Given the description of an element on the screen output the (x, y) to click on. 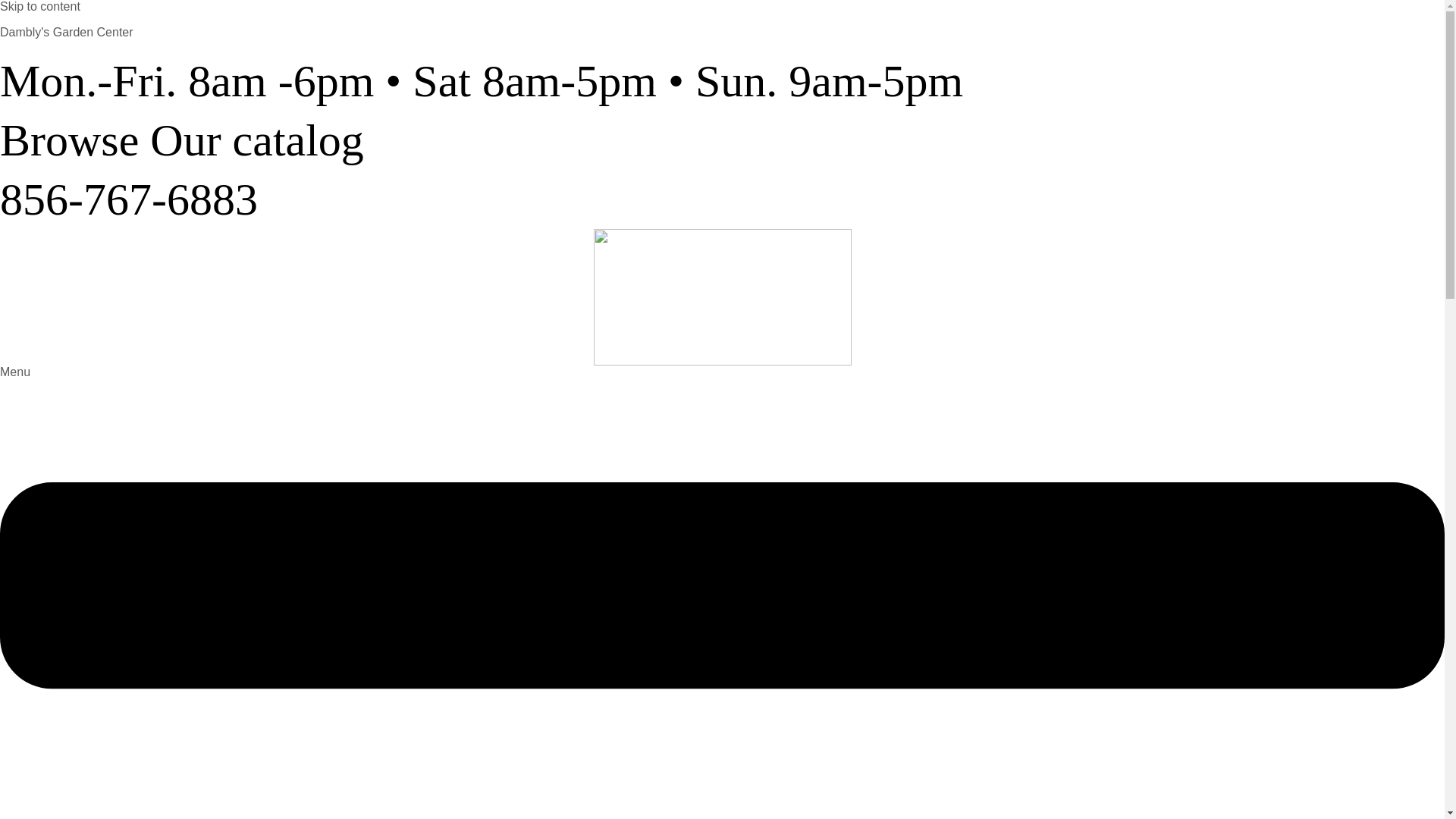
Skip to content (40, 6)
Dambly's Garden Center (66, 31)
Browse Our catalog (182, 140)
Skip to content (40, 6)
Dambly's Garden Center (66, 31)
